Given the description of an element on the screen output the (x, y) to click on. 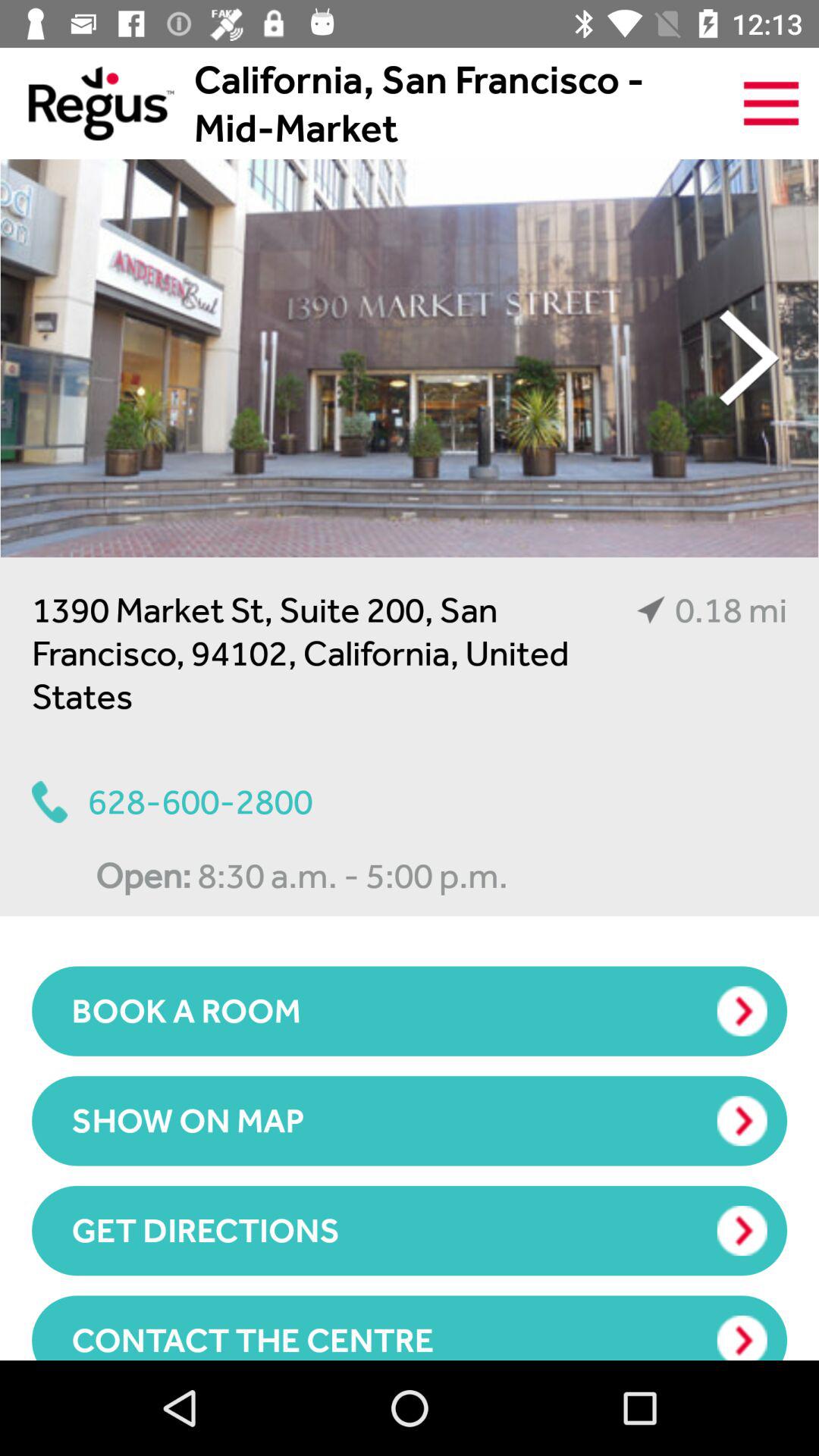
choose the show on map icon (409, 1120)
